Given the description of an element on the screen output the (x, y) to click on. 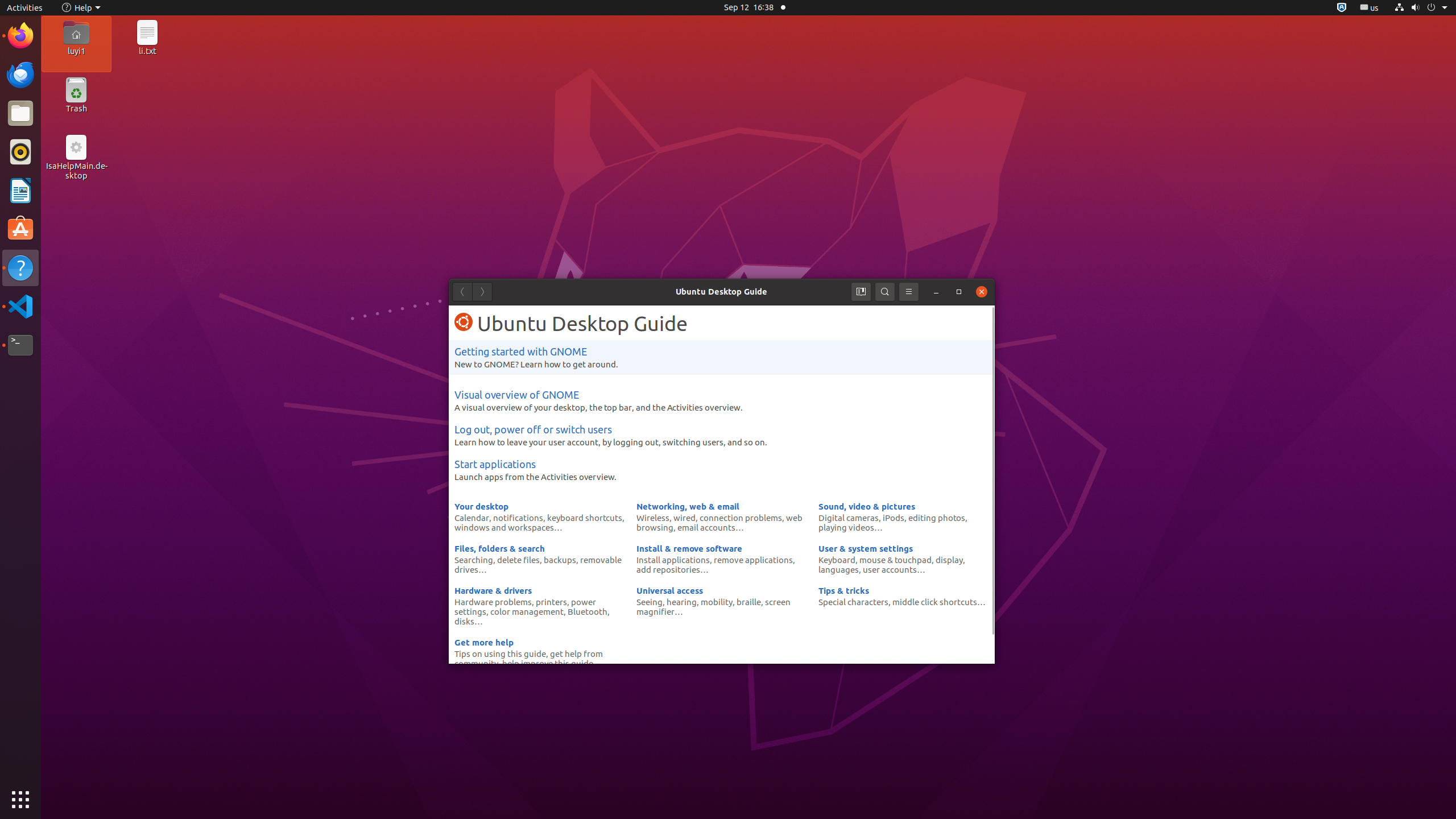
printers Element type: link (551, 601)
Minimize Element type: push-button (935, 291)
remove applications Element type: link (752, 559)
mobility Element type: link (716, 601)
